Given the description of an element on the screen output the (x, y) to click on. 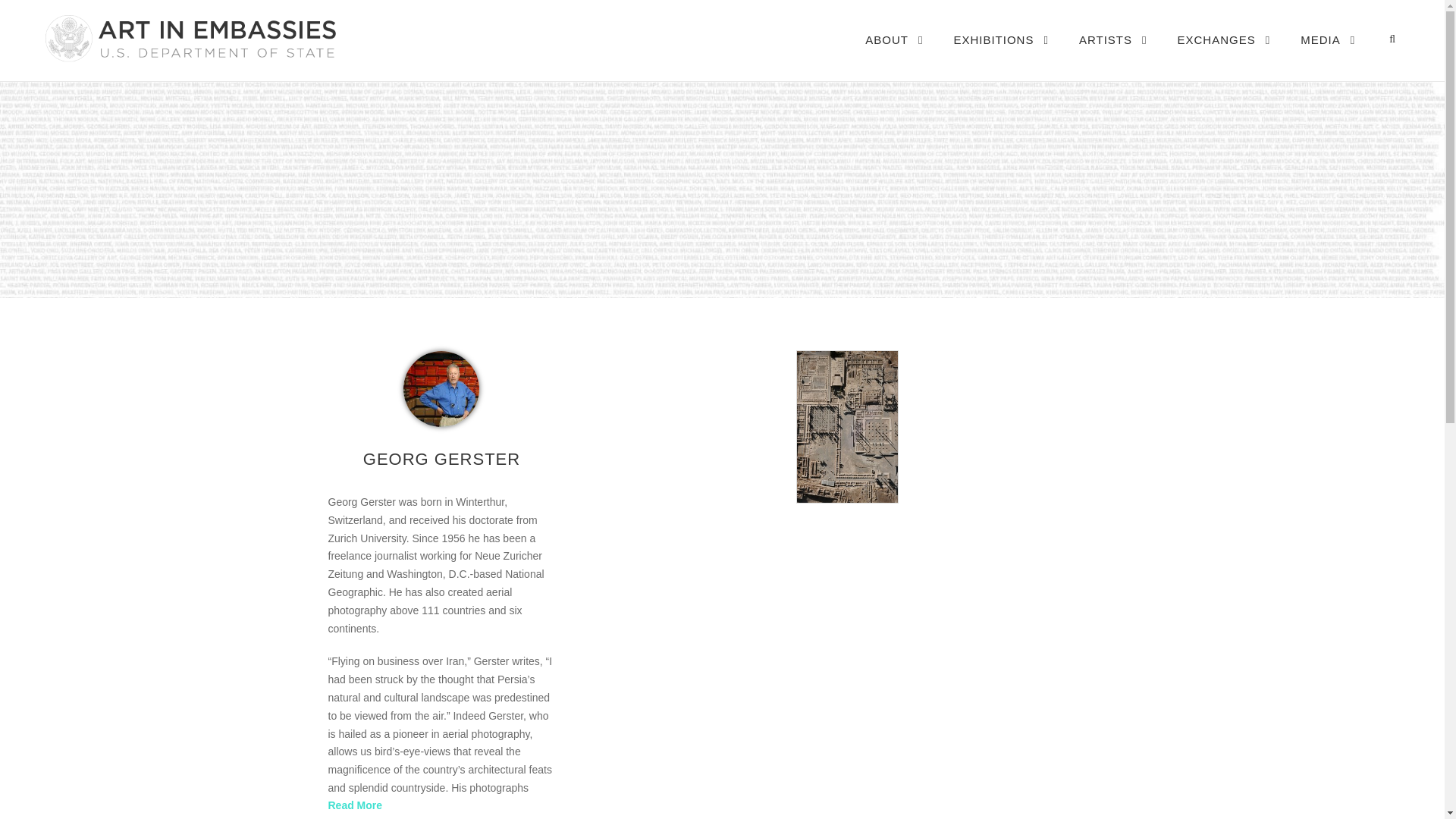
aie logo3 (188, 38)
10119 (441, 388)
ABOUT (893, 55)
